Given the description of an element on the screen output the (x, y) to click on. 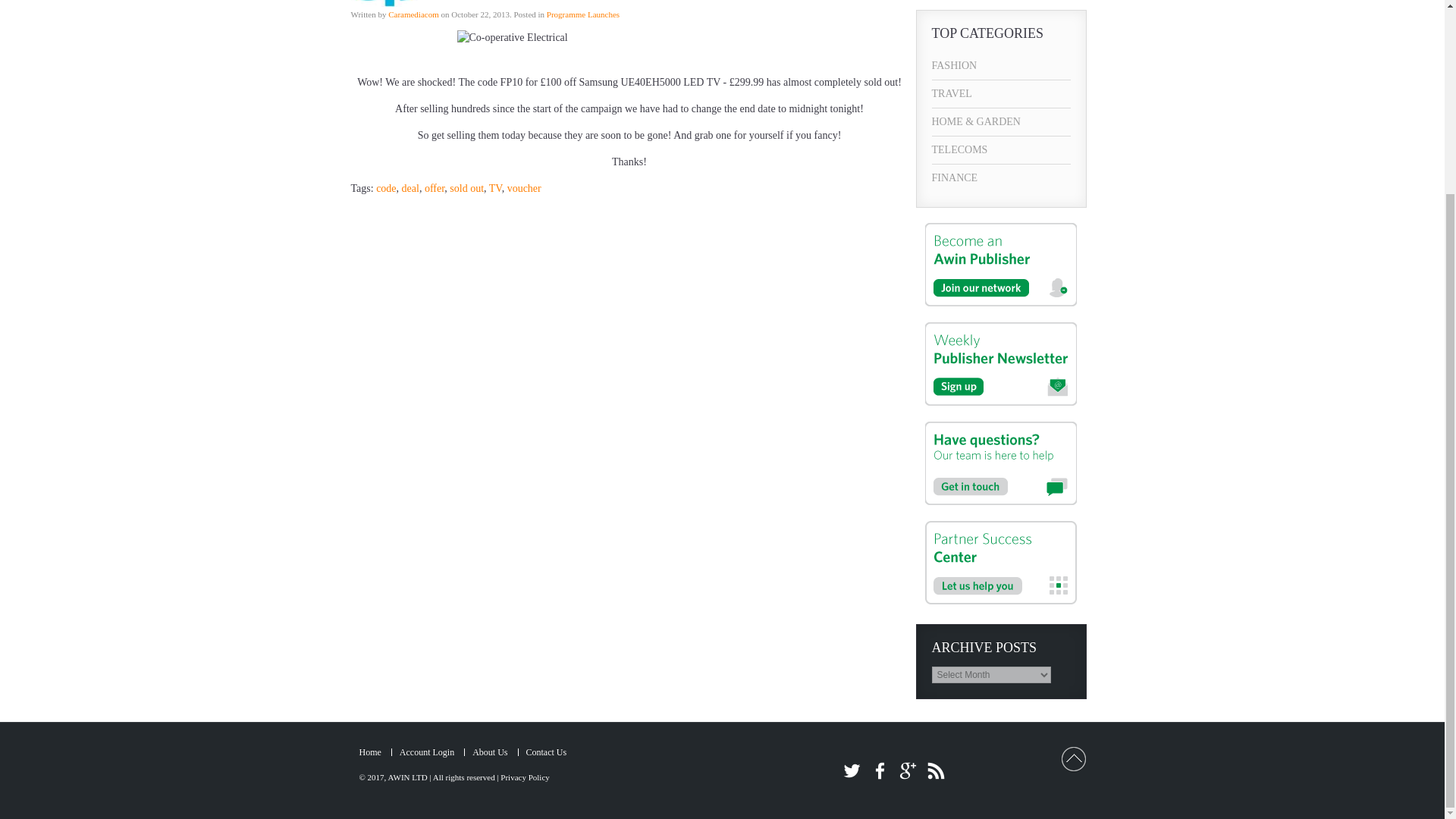
TV (495, 188)
Contact Us (546, 752)
TRAVEL (1000, 93)
Caramediacom (413, 13)
Account Login (426, 752)
Privacy Policy (524, 777)
TELECOMS (1000, 149)
deal (410, 188)
sold out (466, 188)
code (385, 188)
About Us (488, 752)
voucher (523, 188)
FINANCE (1000, 177)
Caramediacom (413, 13)
FASHION (1000, 65)
